Given the description of an element on the screen output the (x, y) to click on. 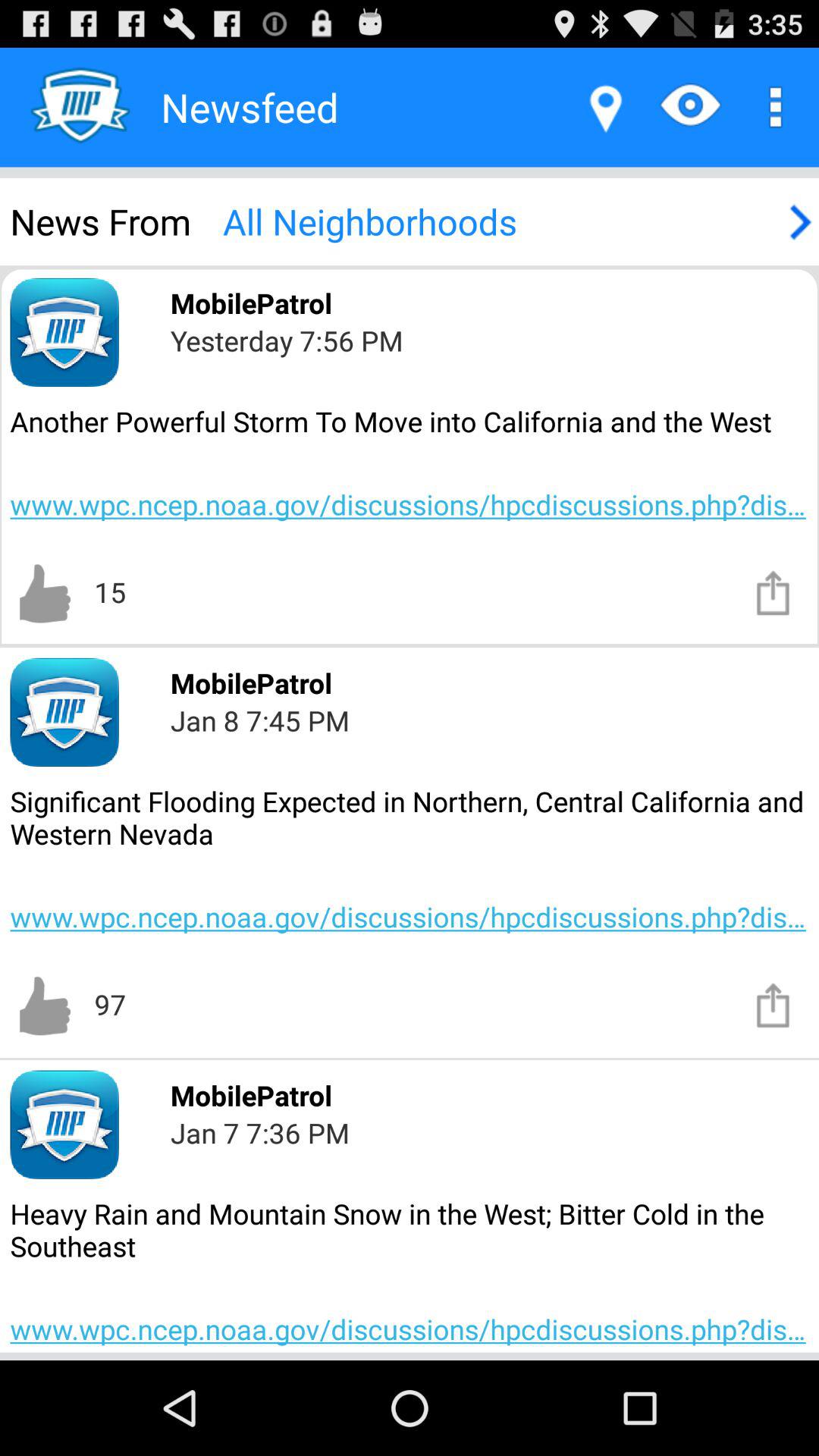
download notice (774, 1004)
